Given the description of an element on the screen output the (x, y) to click on. 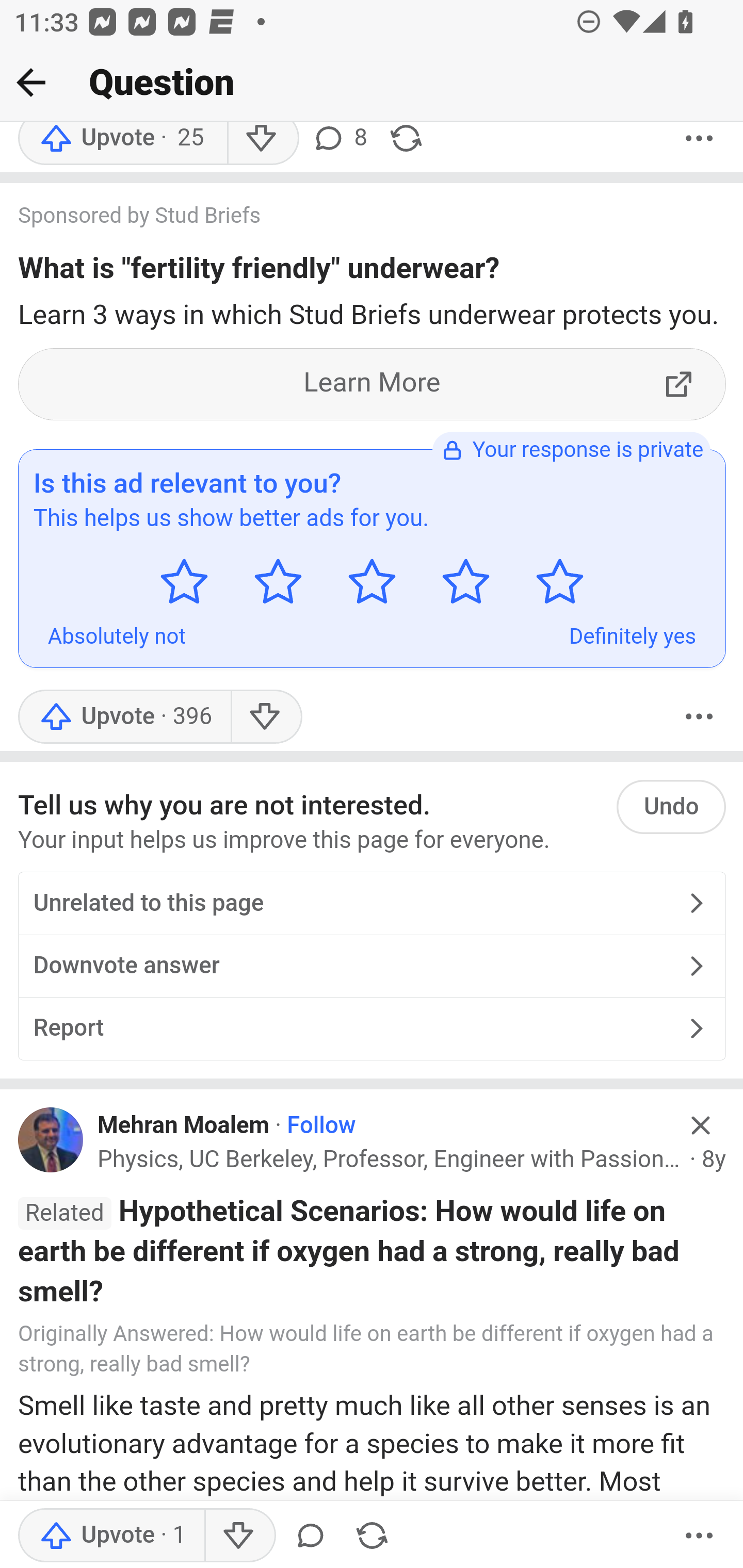
Back (30, 82)
Sponsored by Stud Briefs (352, 217)
What is "fertility friendly" underwear? (258, 271)
Learn More ExternalLink (372, 383)
Upvote (124, 716)
Downvote (266, 716)
More (699, 716)
Undo (671, 806)
Unrelated to this page (371, 904)
Downvote answer (371, 966)
Report (371, 1028)
Hide (700, 1126)
Profile photo for Mehran Moalem (50, 1140)
Mehran Moalem (184, 1125)
Follow (321, 1125)
Upvote (111, 1535)
Downvote (238, 1535)
Comment (310, 1535)
Share (372, 1535)
More (699, 1535)
